Given the description of an element on the screen output the (x, y) to click on. 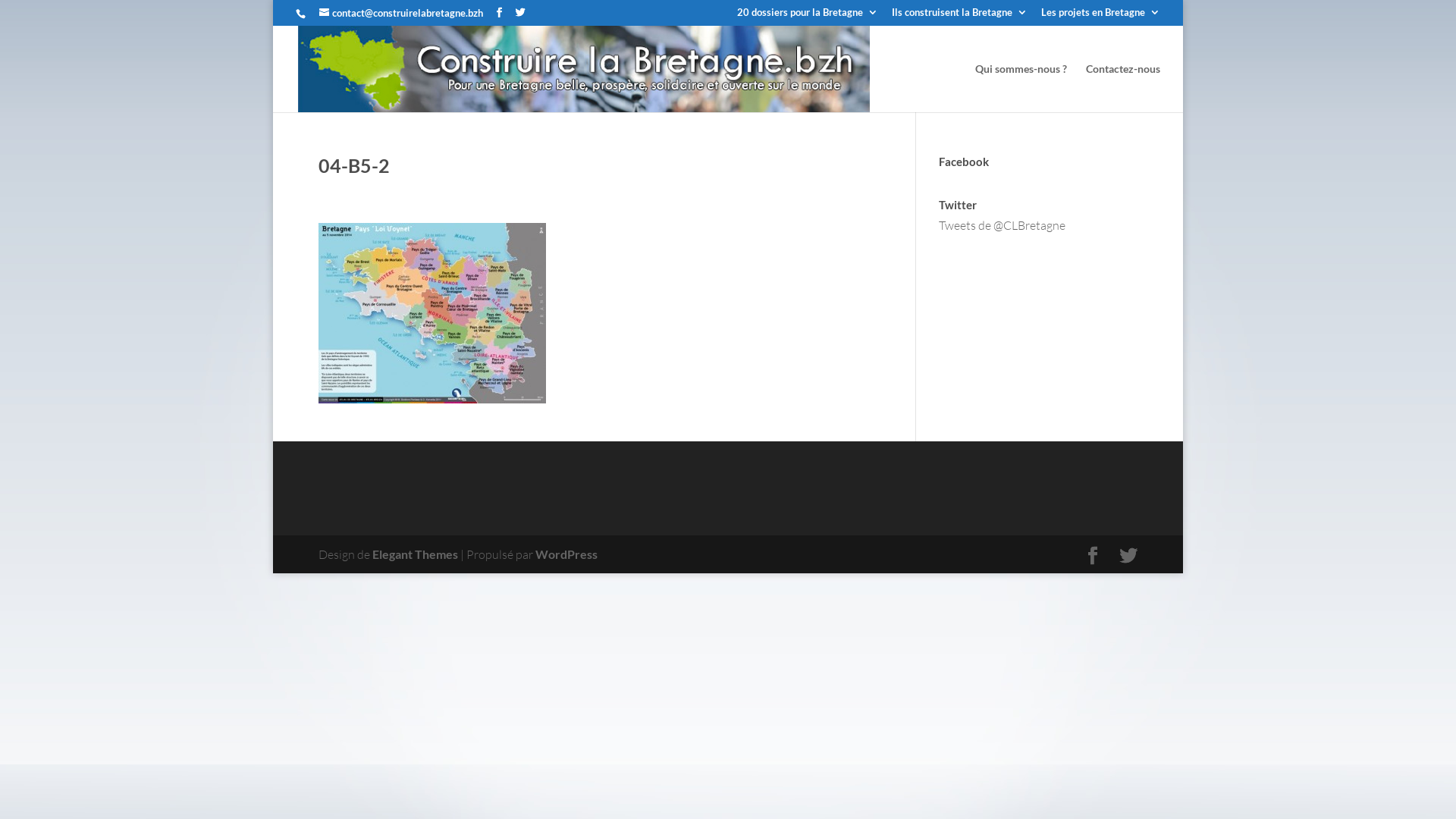
Les projets en Bretagne Element type: text (1100, 16)
20 dossiers pour la Bretagne Element type: text (807, 16)
Elegant Themes Element type: text (415, 553)
Tweets de @CLBretagne Element type: text (1001, 224)
Qui sommes-nous ? Element type: text (1020, 87)
Contactez-nous Element type: text (1122, 87)
contact@construirelabretagne.bzh Element type: text (401, 12)
Ils construisent la Bretagne Element type: text (959, 16)
WordPress Element type: text (566, 553)
